Given the description of an element on the screen output the (x, y) to click on. 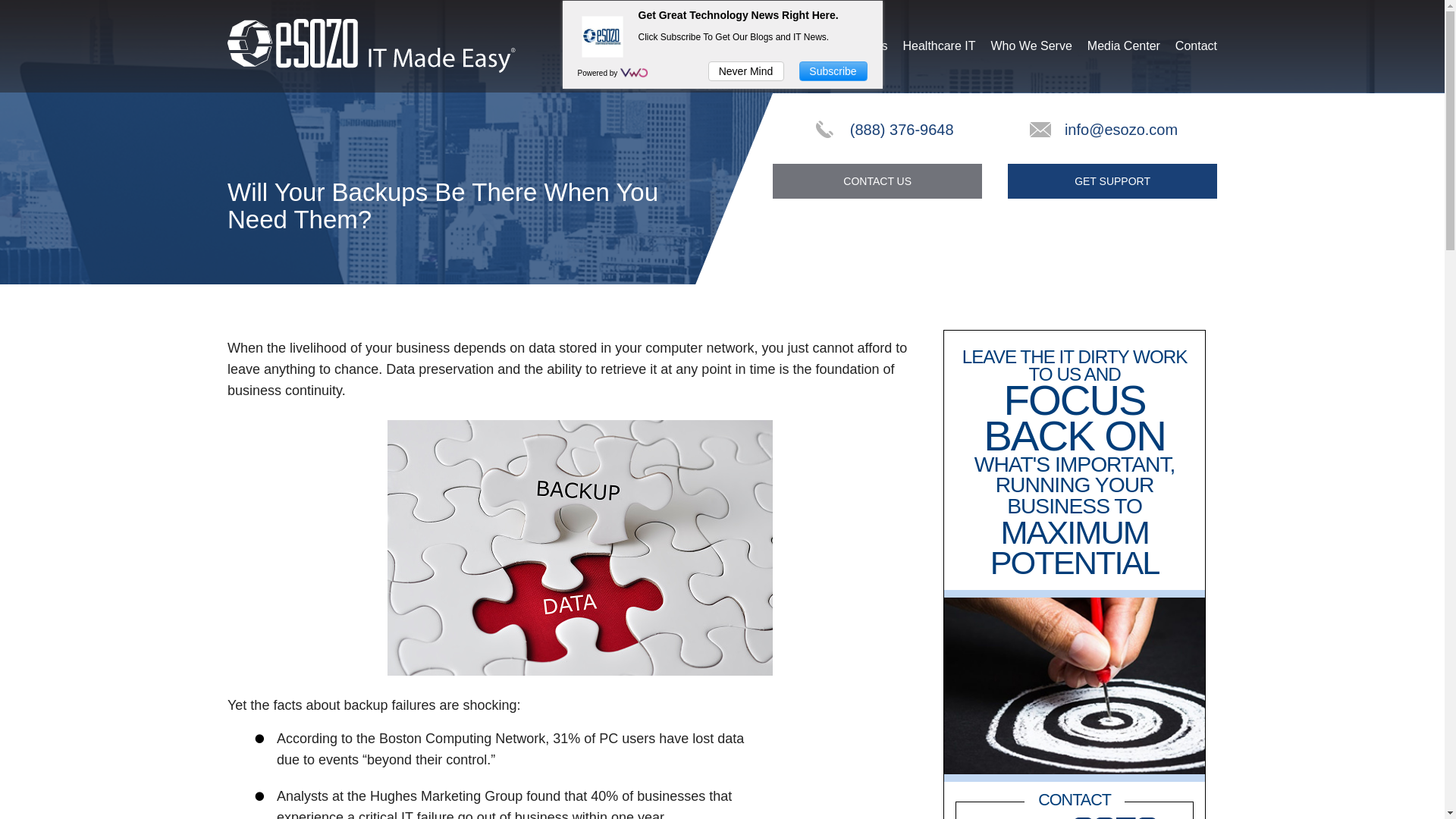
Services (863, 46)
Contact (1195, 46)
Media Center (1123, 46)
Home (745, 46)
Healthcare IT (938, 46)
About Us (800, 46)
Who We Serve (1031, 46)
